Given the description of an element on the screen output the (x, y) to click on. 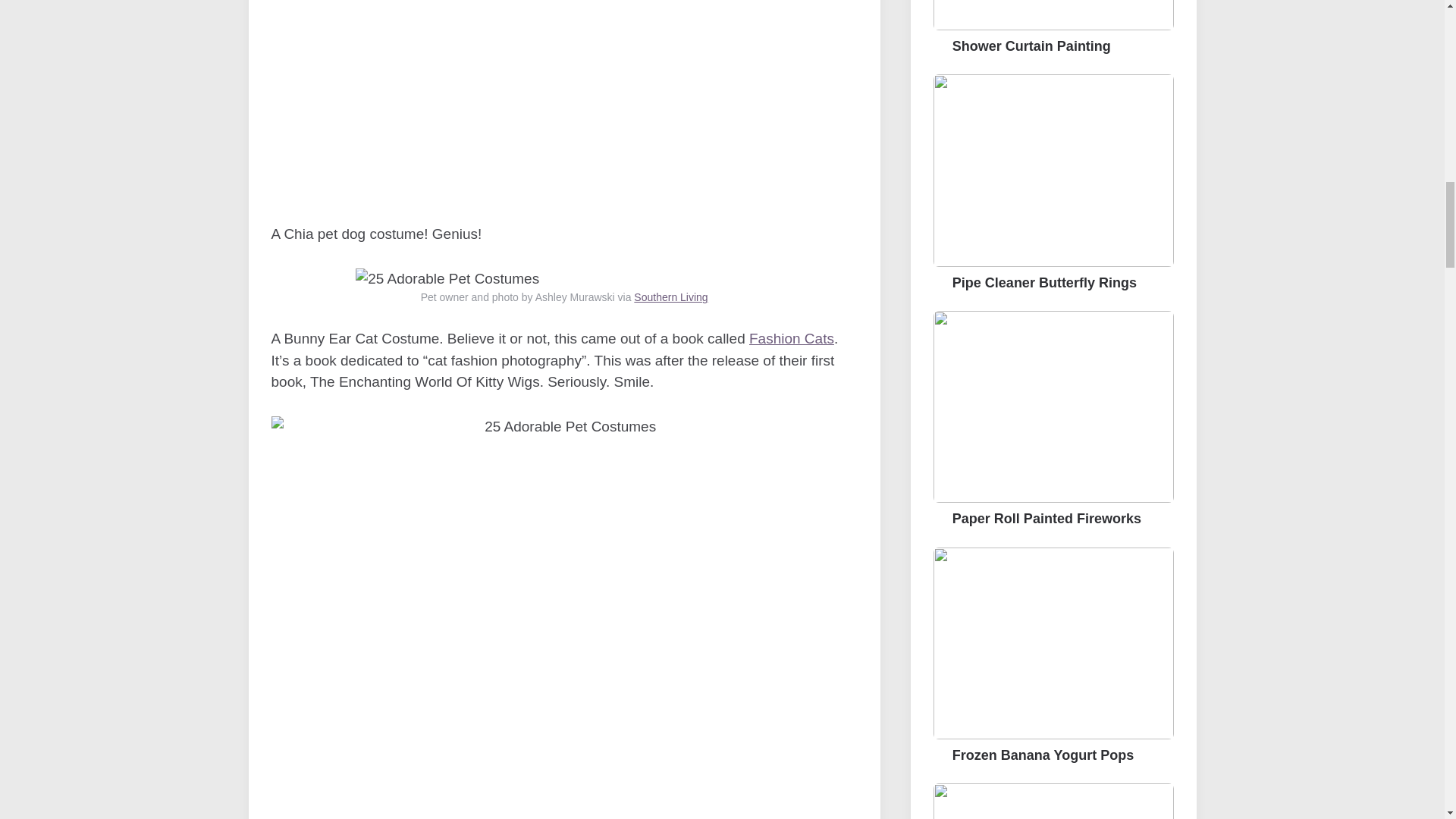
Chia Pet Dog Costume (446, 279)
Pet Cat Costumes (563, 100)
